Given the description of an element on the screen output the (x, y) to click on. 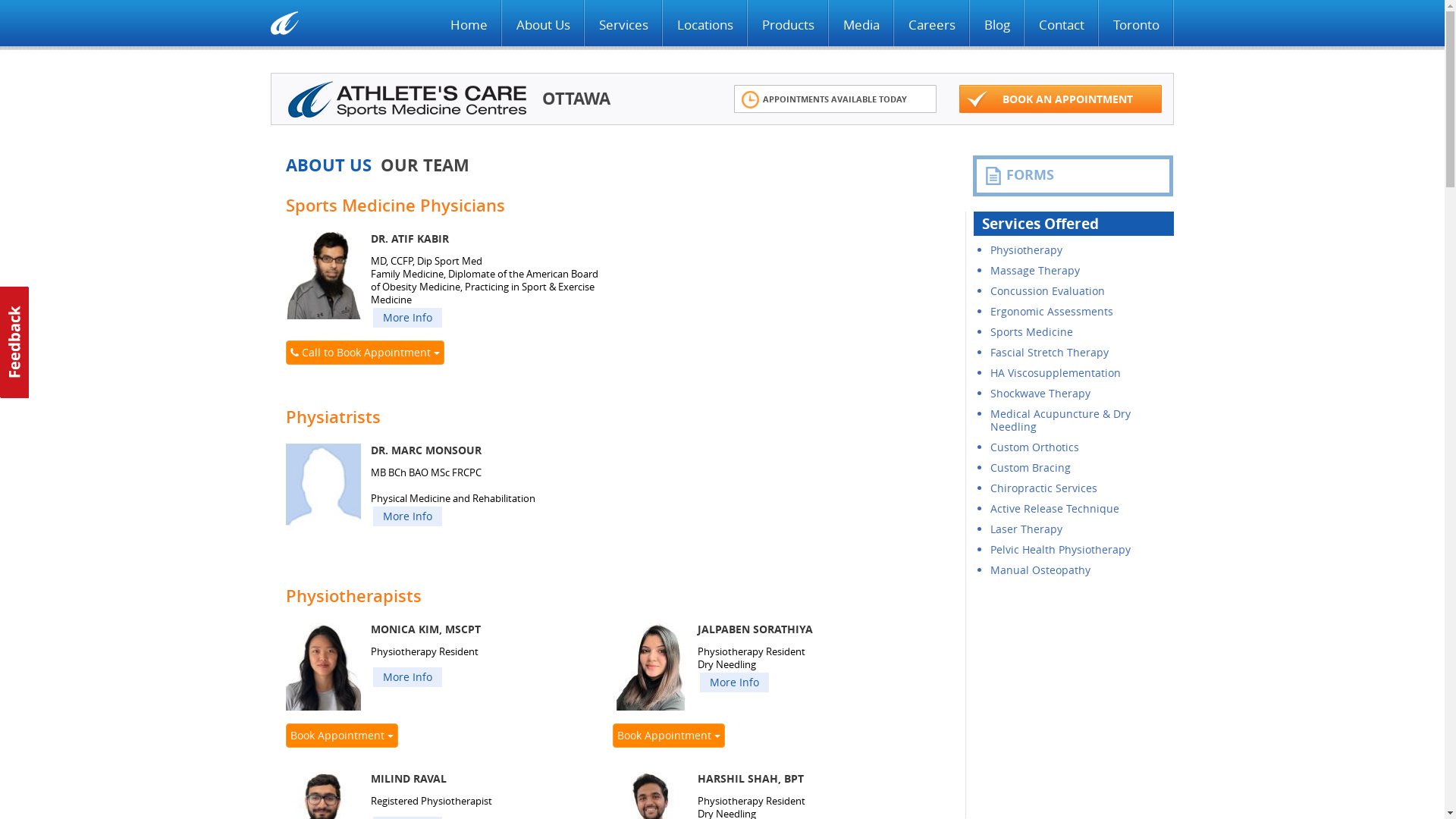
Concussion Evaluation Element type: text (1047, 290)
Manual Osteopathy Element type: text (1040, 569)
FORMS Element type: text (1072, 175)
More Info Element type: text (407, 677)
Contact Element type: text (1061, 25)
Book Appointment Element type: text (668, 735)
Active Release Technique Element type: text (1054, 508)
About Us Element type: text (543, 25)
More Info Element type: text (407, 317)
Medical Acupuncture & Dry Needling Element type: text (1060, 419)
Physiotherapy in Ottawa Element type: hover (284, 22)
Media Element type: text (861, 25)
Services Element type: text (623, 25)
Home Element type: text (469, 25)
Products Element type: text (787, 25)
  Element type: text (14, 342)
Massage Therapy Element type: text (1034, 270)
More Info Element type: text (733, 682)
Fascial Stretch Therapy Element type: text (1049, 352)
HA Viscosupplementation Element type: text (1055, 372)
Locations Element type: text (704, 25)
Pelvic Health Physiotherapy Element type: text (1060, 549)
Toronto Element type: text (1135, 25)
Book Appointment Element type: text (341, 735)
Sports Medicine Element type: text (1031, 331)
Shockwave Therapy Element type: text (1040, 392)
Careers Element type: text (931, 25)
Call to Book Appointment Element type: text (364, 352)
Custom Bracing Element type: text (1030, 467)
Chiropractic Services Element type: text (1043, 487)
Ergonomic Assessments Element type: text (1051, 311)
More Info Element type: text (407, 516)
DR. ATIF KABIR Element type: hover (322, 275)
BOOK AN APPOINTMENT Element type: text (1067, 98)
JALPABEN SORATHIYA Element type: hover (649, 665)
Blog Element type: text (996, 25)
Physiotherapy Element type: text (1026, 249)
Phyiotherapy in Ottawa Element type: hover (406, 98)
Custom Orthotics Element type: text (1034, 446)
MONICA KIM, MSCPT Element type: hover (322, 665)
APPOINTMENTS AVAILABLE TODAY Element type: text (834, 98)
DR. MARC MONSOUR Element type: hover (322, 486)
Laser Therapy Element type: text (1026, 528)
